Given the description of an element on the screen output the (x, y) to click on. 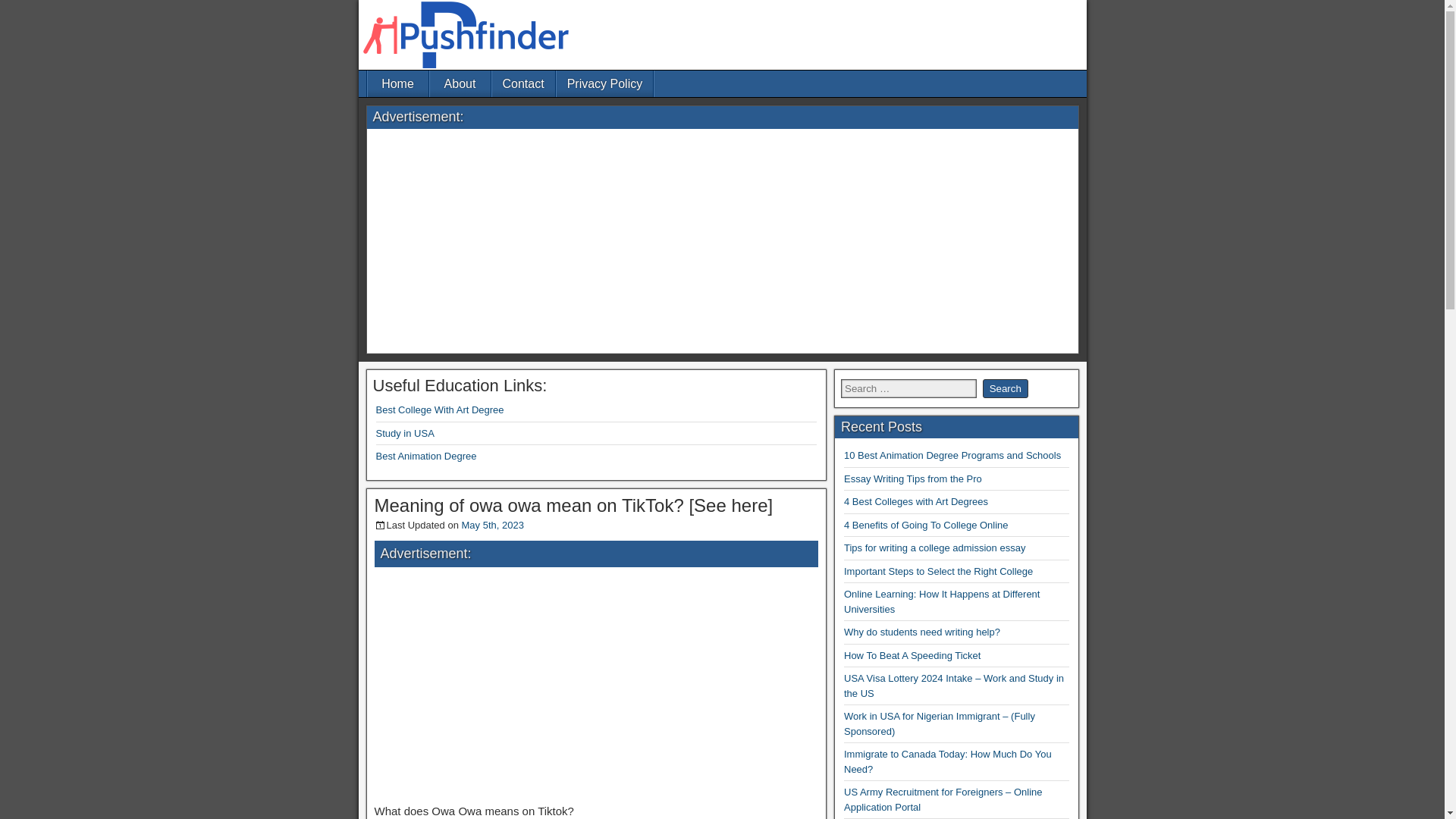
4 Best Colleges with Art Degrees (916, 501)
Best Animation Degree (426, 455)
Search (1004, 388)
Home (397, 83)
Immigrate to Canada Today: How Much Do You Need? (947, 761)
Tips for writing a college admission essay (934, 547)
Search (1004, 388)
Essay Writing Tips from the Pro (912, 478)
About (459, 83)
Privacy Policy (604, 83)
